Given the description of an element on the screen output the (x, y) to click on. 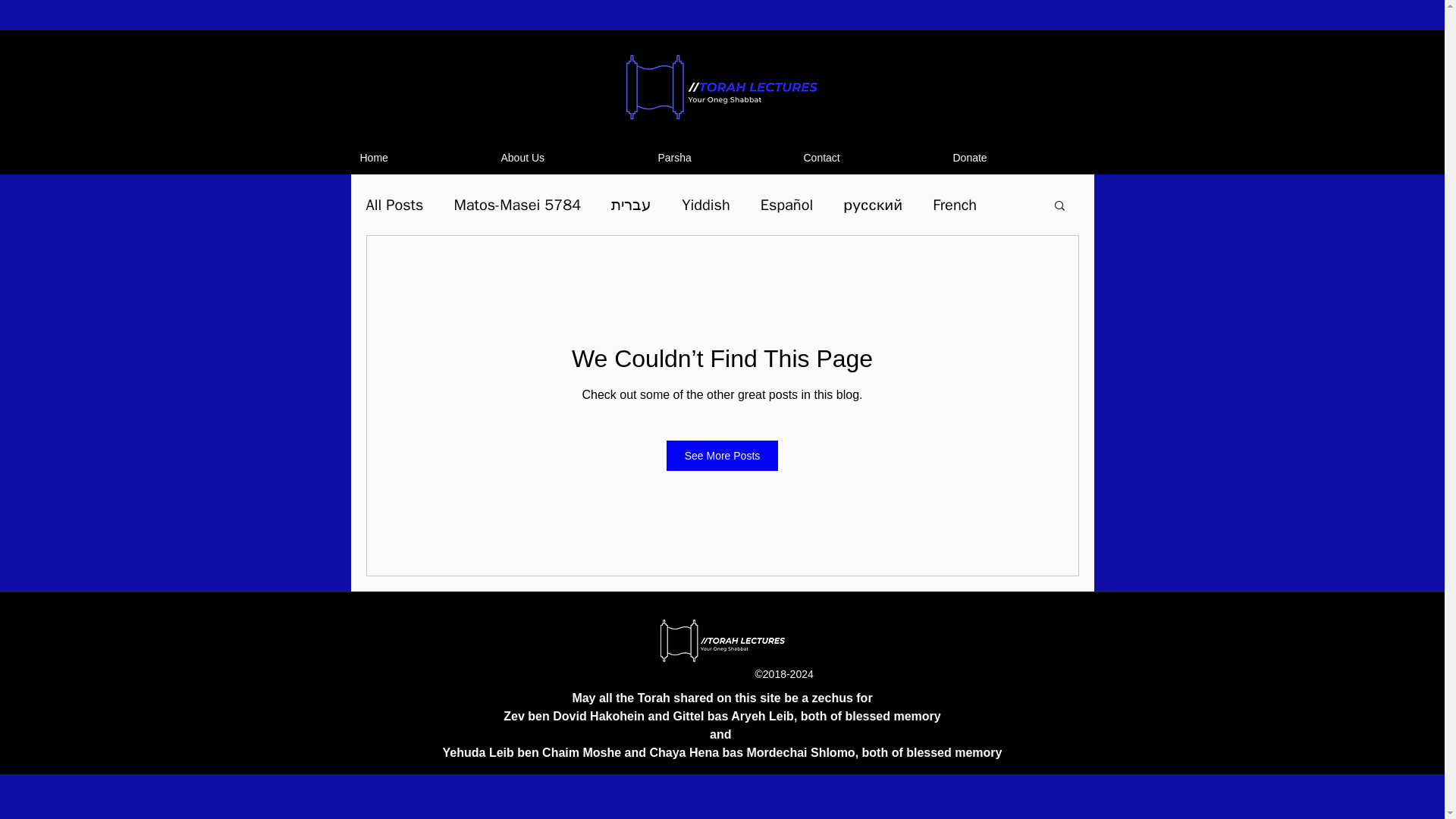
About Us (571, 157)
Matos-Masei 5784 (516, 204)
Yiddish (705, 204)
See More Posts (722, 455)
Contact (870, 157)
Home (422, 157)
French (954, 204)
Donate (1017, 157)
Parsha (723, 157)
All Posts (394, 204)
